Given the description of an element on the screen output the (x, y) to click on. 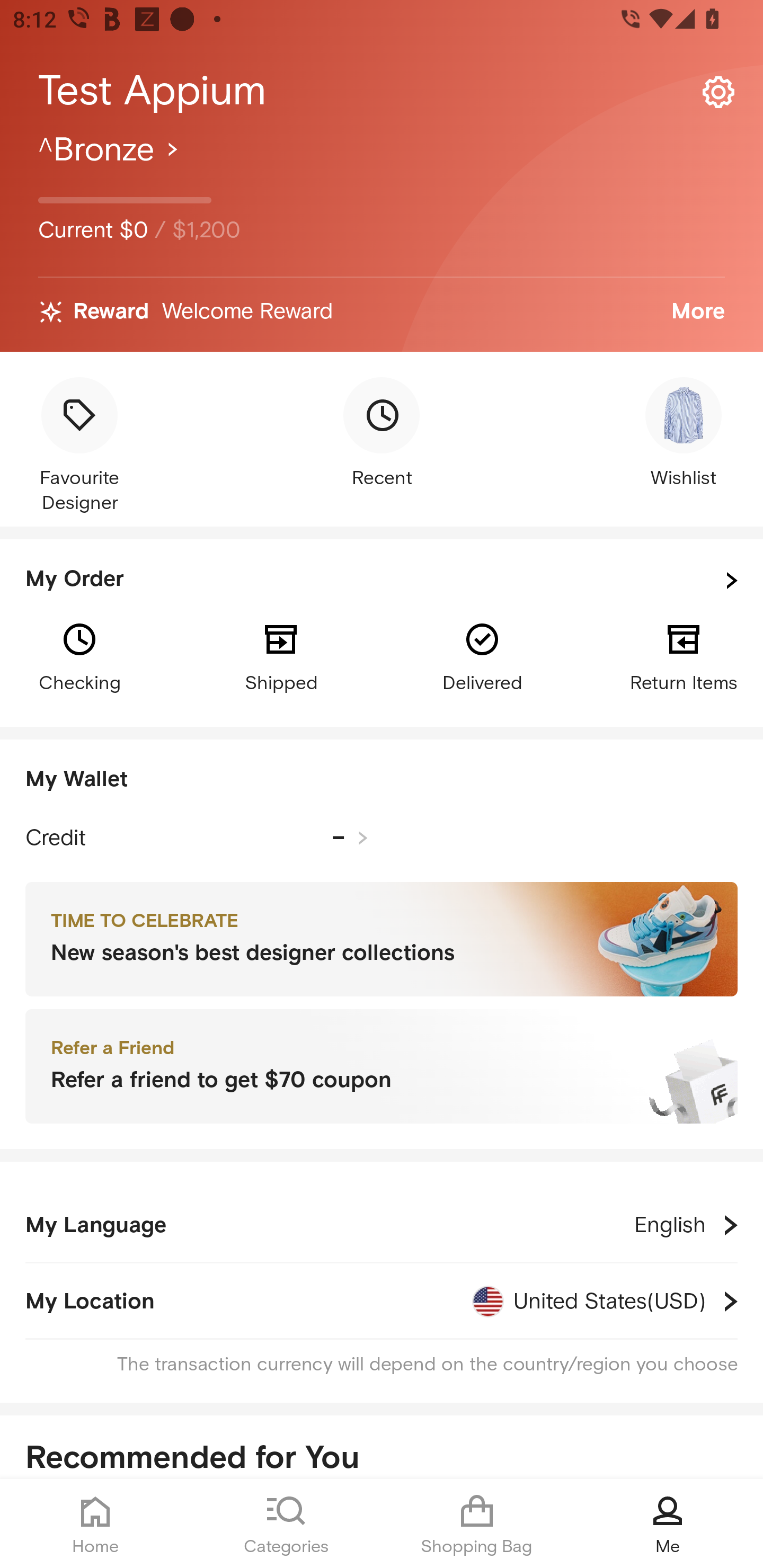
Test Appium (381, 91)
Current $0 / $1,200 Reward Welcome Reward More (381, 240)
Reward Welcome Reward More (381, 311)
Favourite Designer (79, 446)
Recent (381, 433)
Wishlist (683, 433)
My Order (381, 580)
Checking (79, 656)
Shipped (280, 656)
Delivered (482, 656)
Return Items (683, 656)
My Wallet (381, 779)
Credit - (196, 837)
Refer a Friend Refer a friend to get $70 coupon (381, 1066)
My Language English (381, 1224)
My Location United States(USD) (381, 1301)
Home (95, 1523)
Categories (285, 1523)
Shopping Bag (476, 1523)
